Given the description of an element on the screen output the (x, y) to click on. 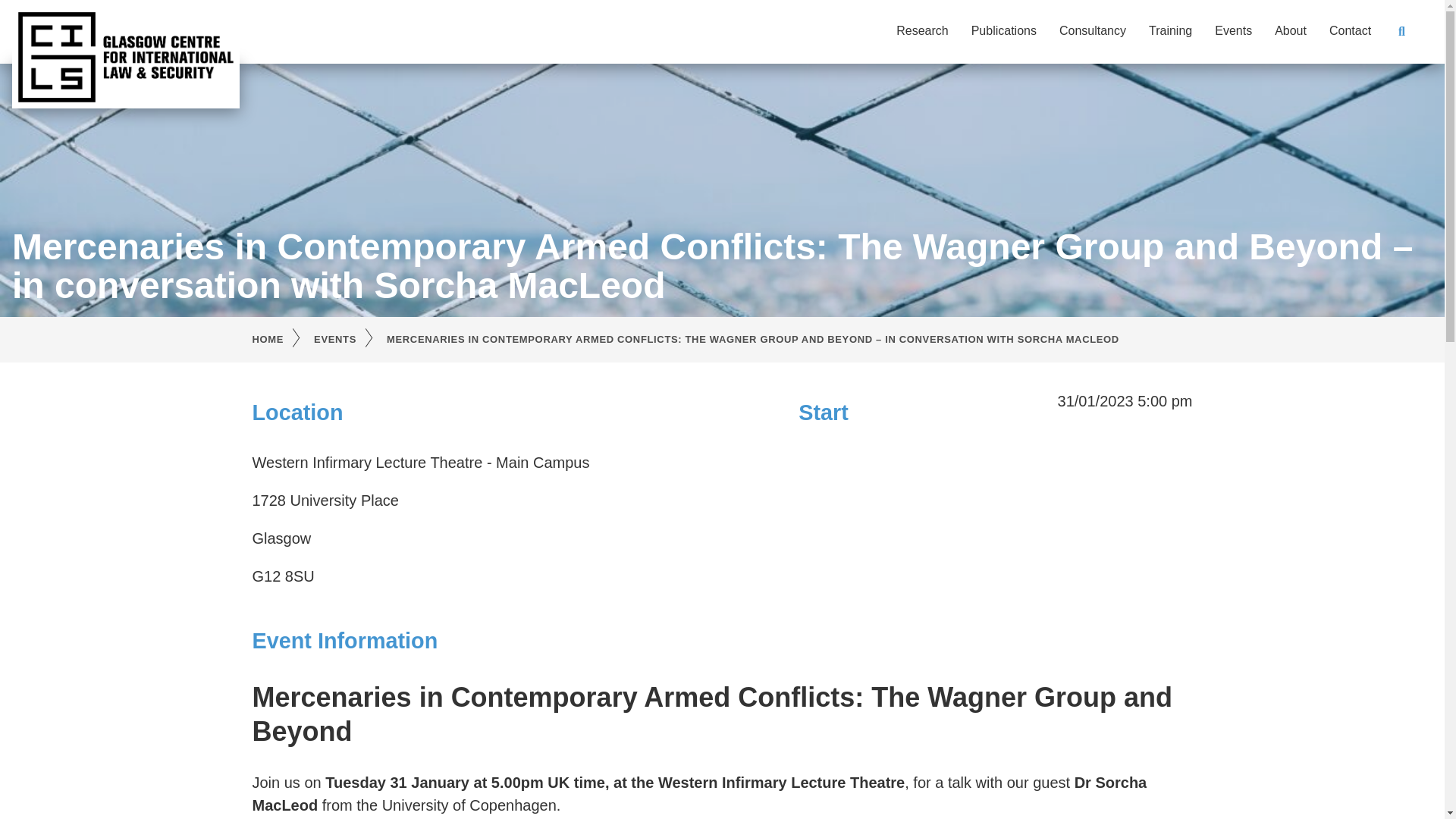
Research (921, 30)
Publications (1003, 30)
Contact (1350, 30)
EVENTS (350, 339)
About (1290, 30)
Events (1233, 30)
Consultancy (1092, 30)
HOME (282, 339)
Training (1170, 30)
